Given the description of an element on the screen output the (x, y) to click on. 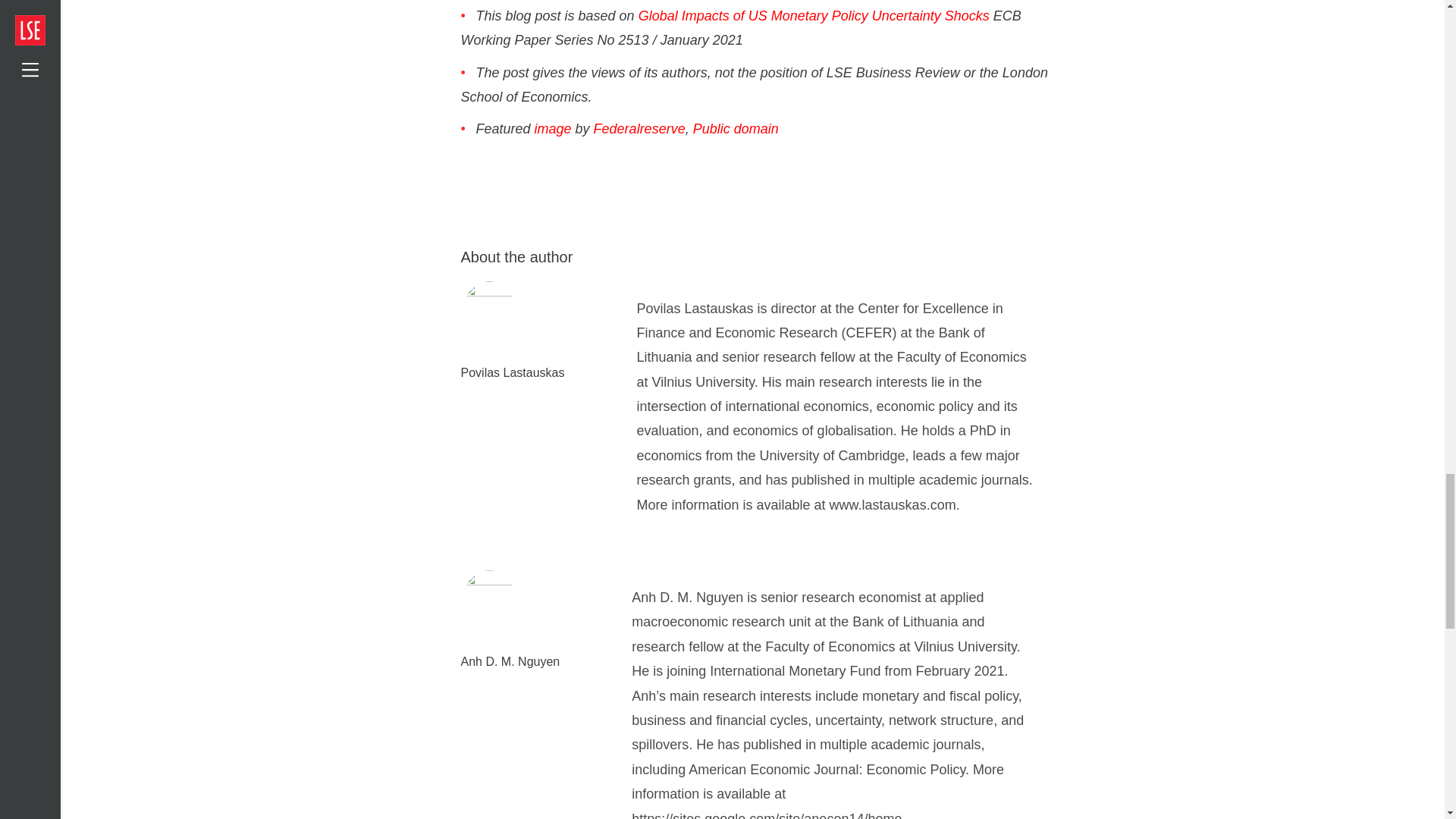
Federalreserve (639, 128)
image (553, 128)
Go to Federalreserve's photostream (639, 128)
Global Impacts of US Monetary Policy Uncertainty Shocks (814, 15)
Public domain (735, 128)
